Given the description of an element on the screen output the (x, y) to click on. 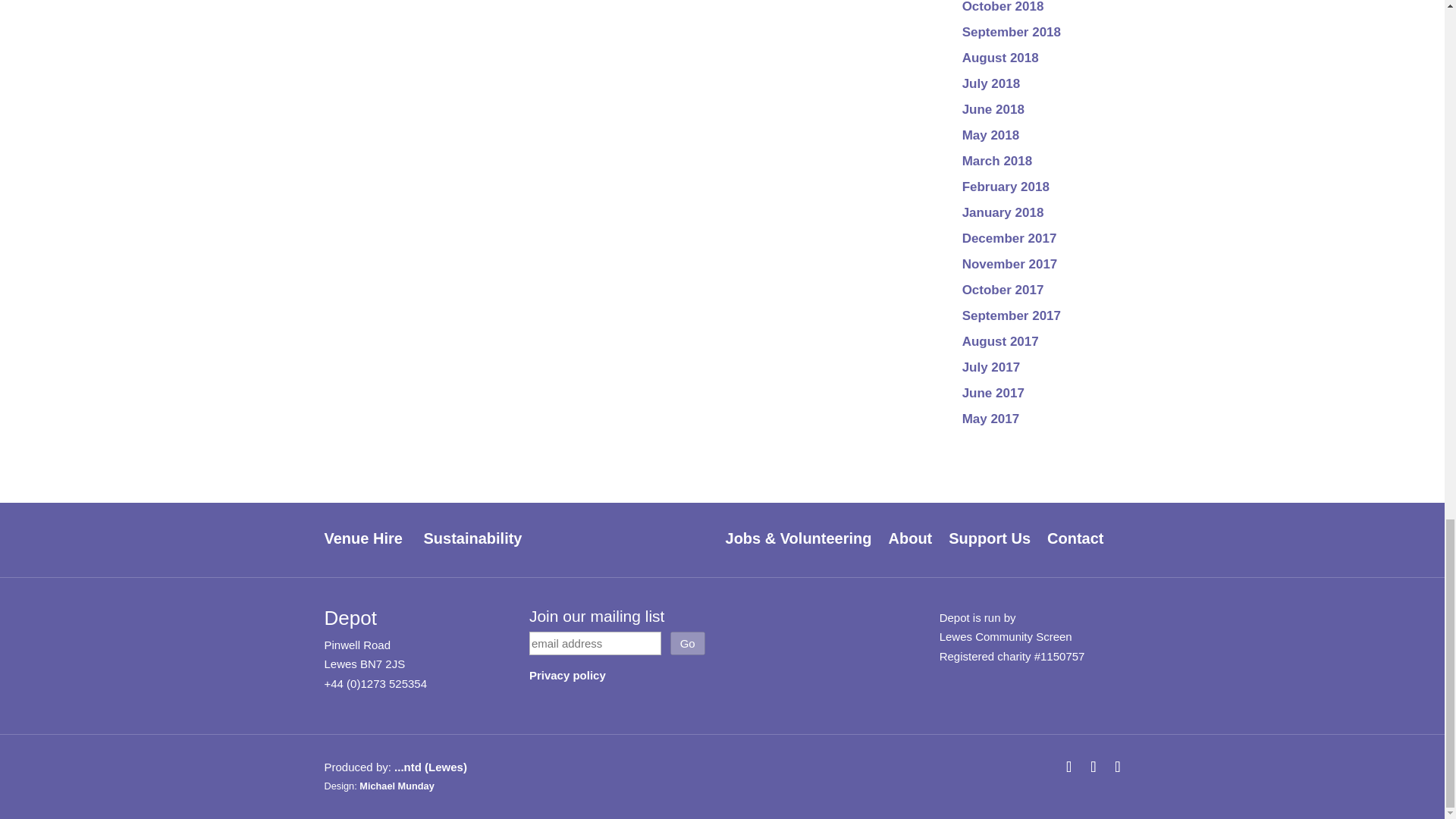
Go (686, 643)
